Given the description of an element on the screen output the (x, y) to click on. 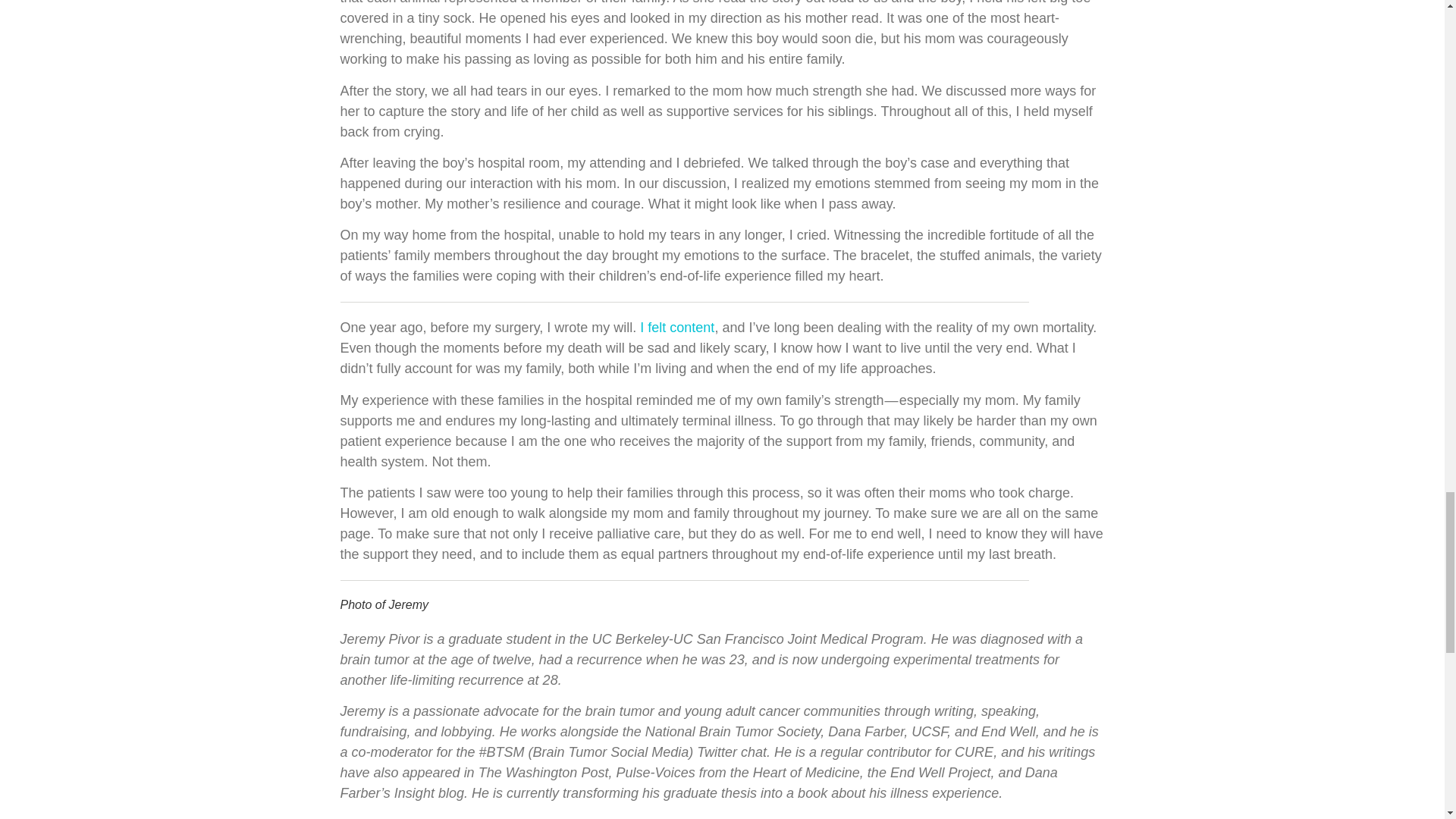
I felt content (677, 327)
Jeremys-Journey.com (583, 817)
